Given the description of an element on the screen output the (x, y) to click on. 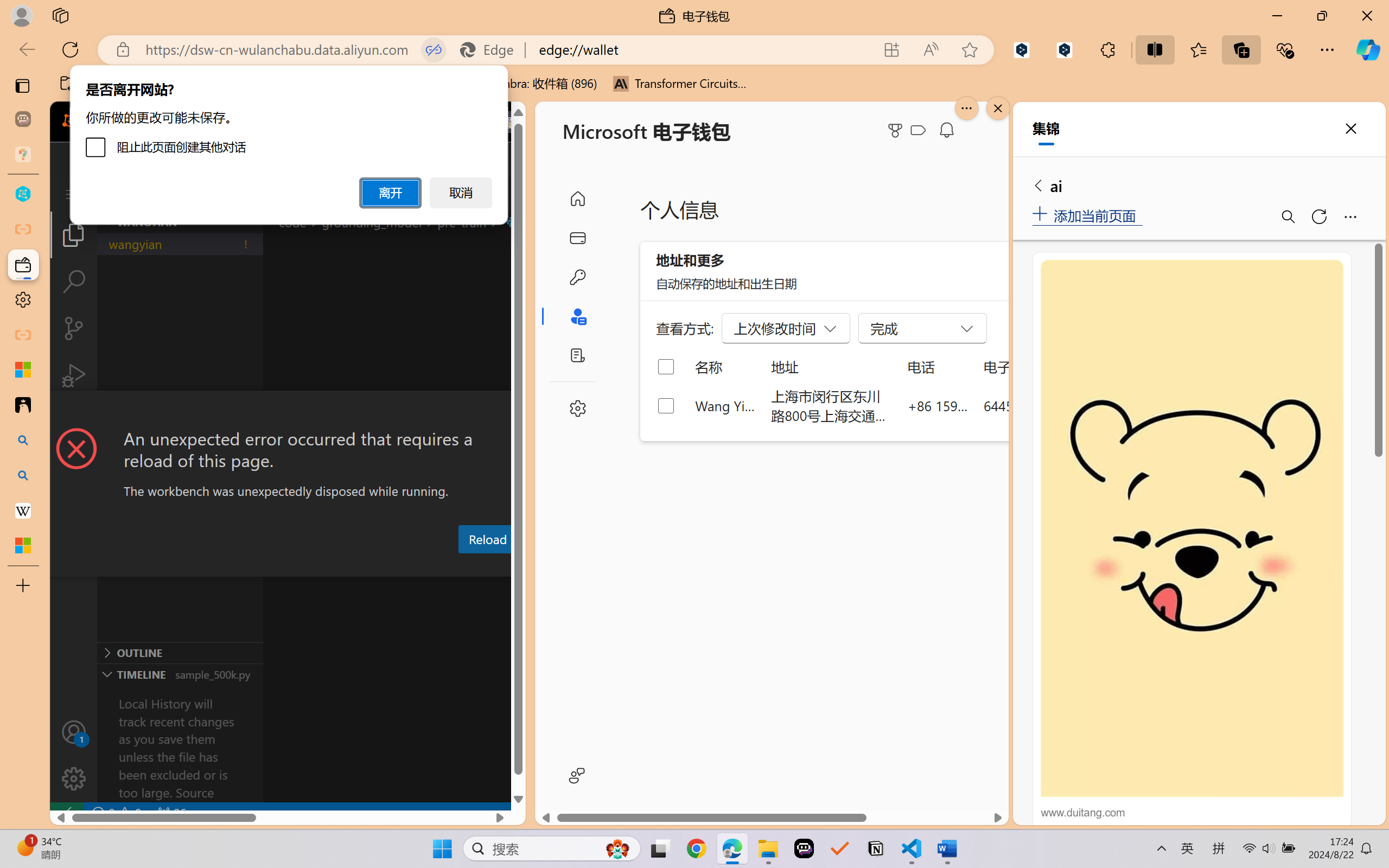
Microsoft Rewards (896, 129)
Wang Yian (725, 405)
Manage (73, 778)
Output (Ctrl+Shift+U) (377, 565)
+86 159 0032 4640 (938, 405)
Extensions (Ctrl+Shift+X) (73, 422)
